Given the description of an element on the screen output the (x, y) to click on. 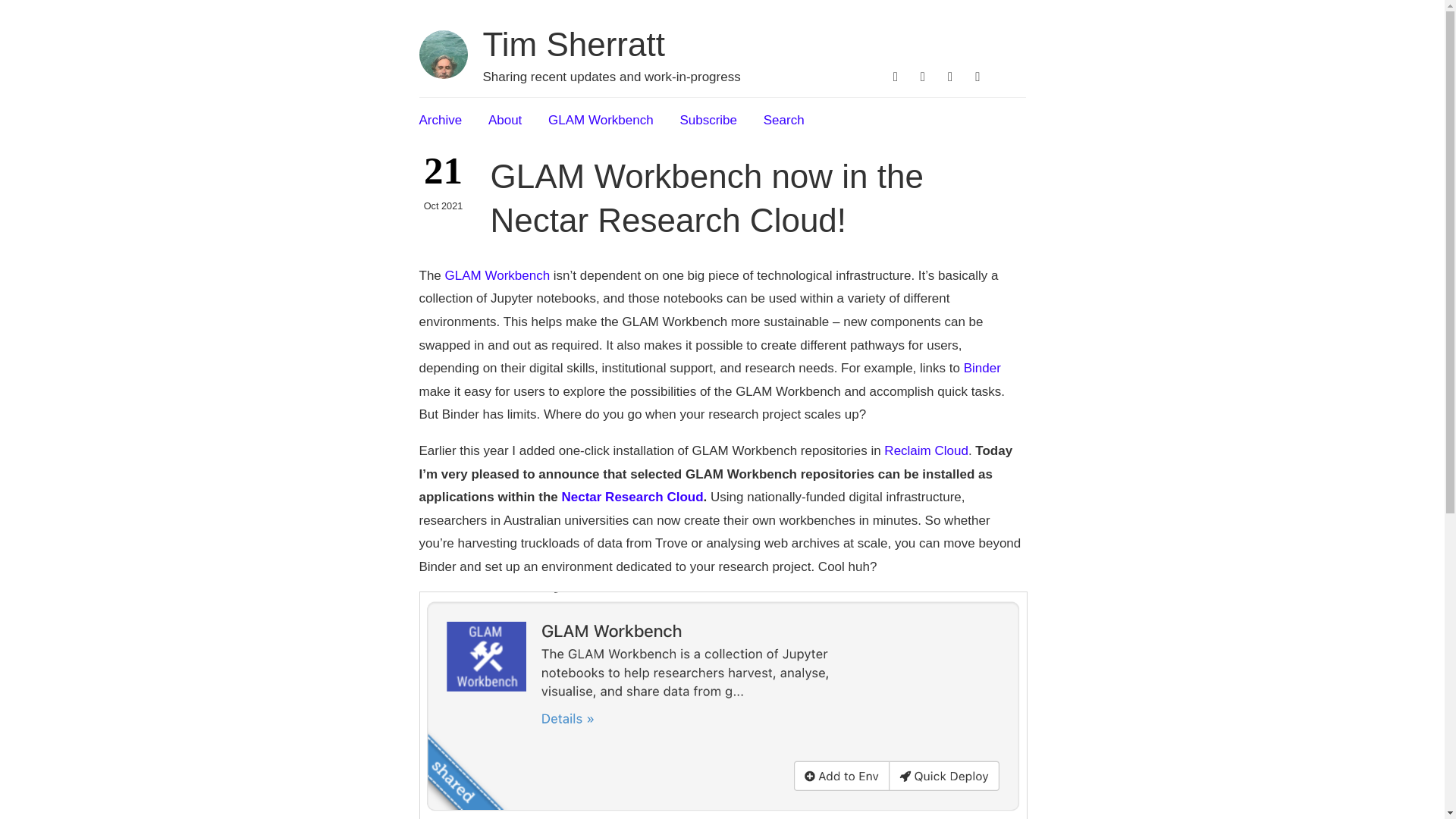
GLAM Workbench (600, 120)
About (504, 120)
Binder (982, 368)
GLAM Workbench (497, 275)
Tim Sherratt (572, 44)
Search (783, 120)
Archive (440, 120)
Subscribe (707, 120)
Reclaim Cloud (925, 450)
Nectar Research Cloud (631, 496)
